Given the description of an element on the screen output the (x, y) to click on. 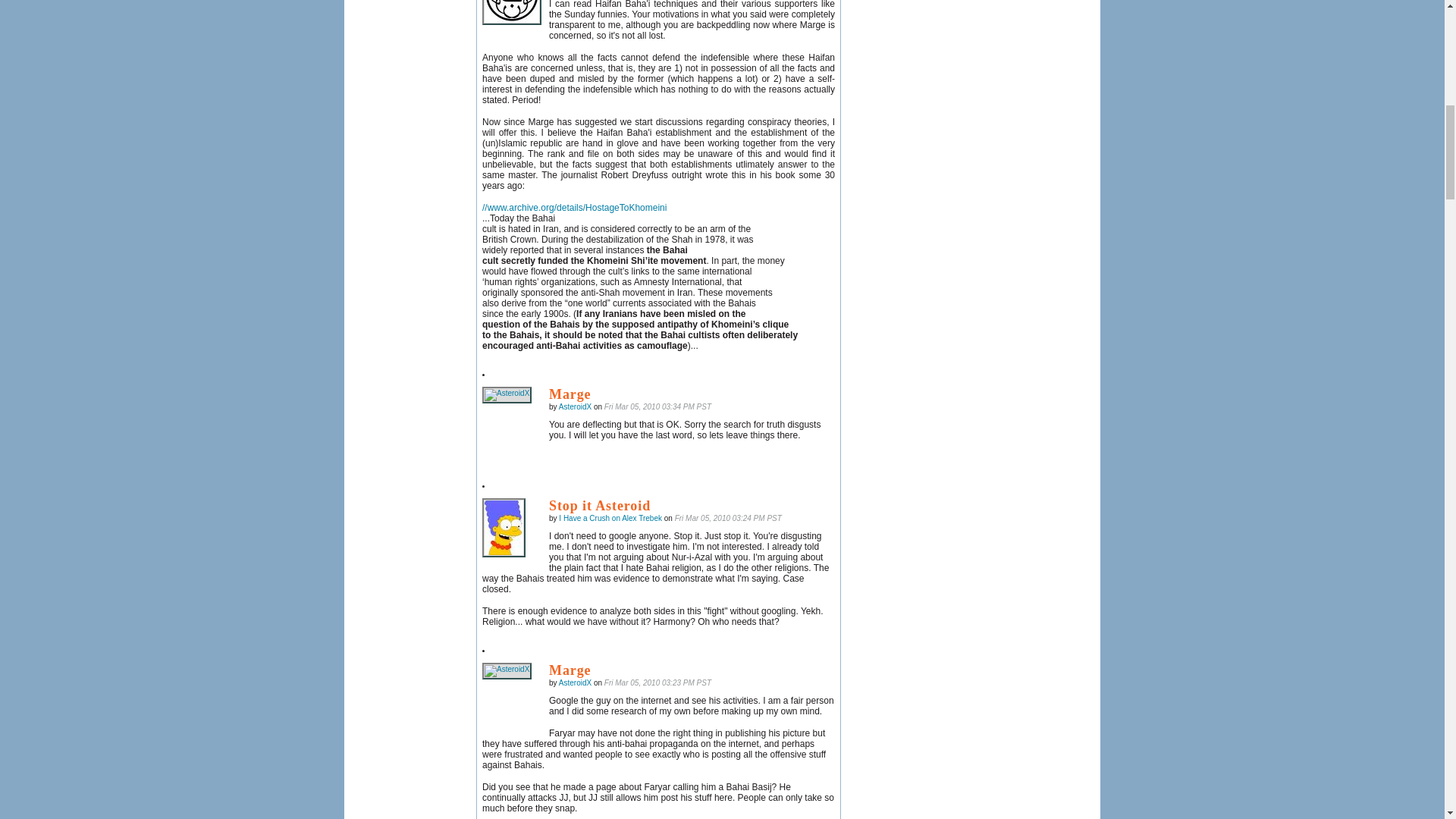
View user profile. (610, 518)
Nur-i-Azal (511, 12)
AsteroidX (506, 670)
AsteroidX (506, 394)
View user profile. (575, 406)
View user profile. (575, 682)
